Given the description of an element on the screen output the (x, y) to click on. 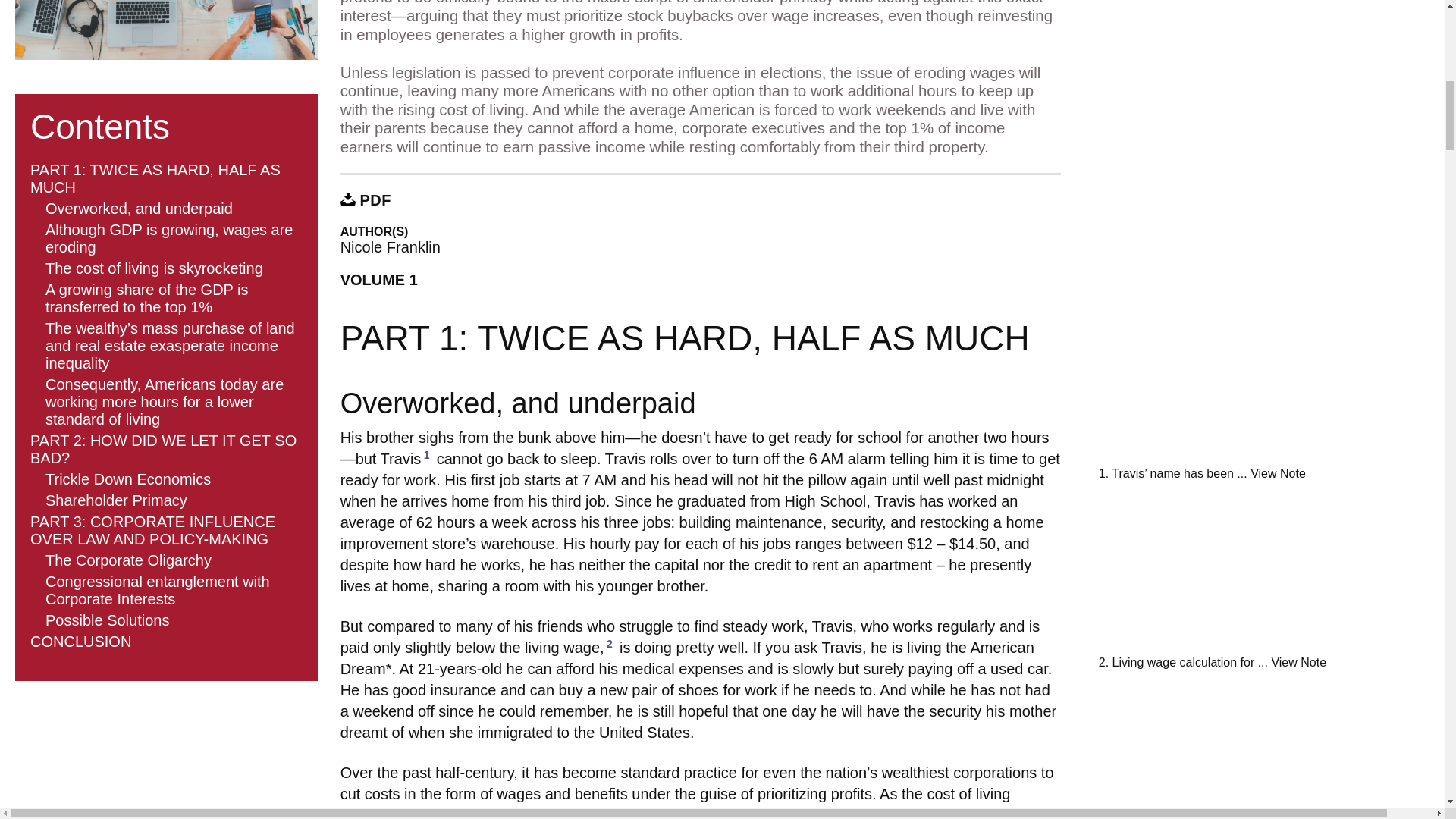
Jump to section The cost of living is skyrocketing (154, 268)
PART 1: TWICE AS HARD, HALF AS MUCH (155, 178)
Download (347, 198)
Jump to section PART 2: HOW DID WE LET IT GET SO BAD? (163, 449)
PART 3: CORPORATE INFLUENCE OVER LAW AND POLICY-MAKING (152, 530)
PART 2: HOW DID WE LET IT GET SO BAD? (163, 449)
Congressional entanglement with Corporate Interests (157, 590)
